Given the description of an element on the screen output the (x, y) to click on. 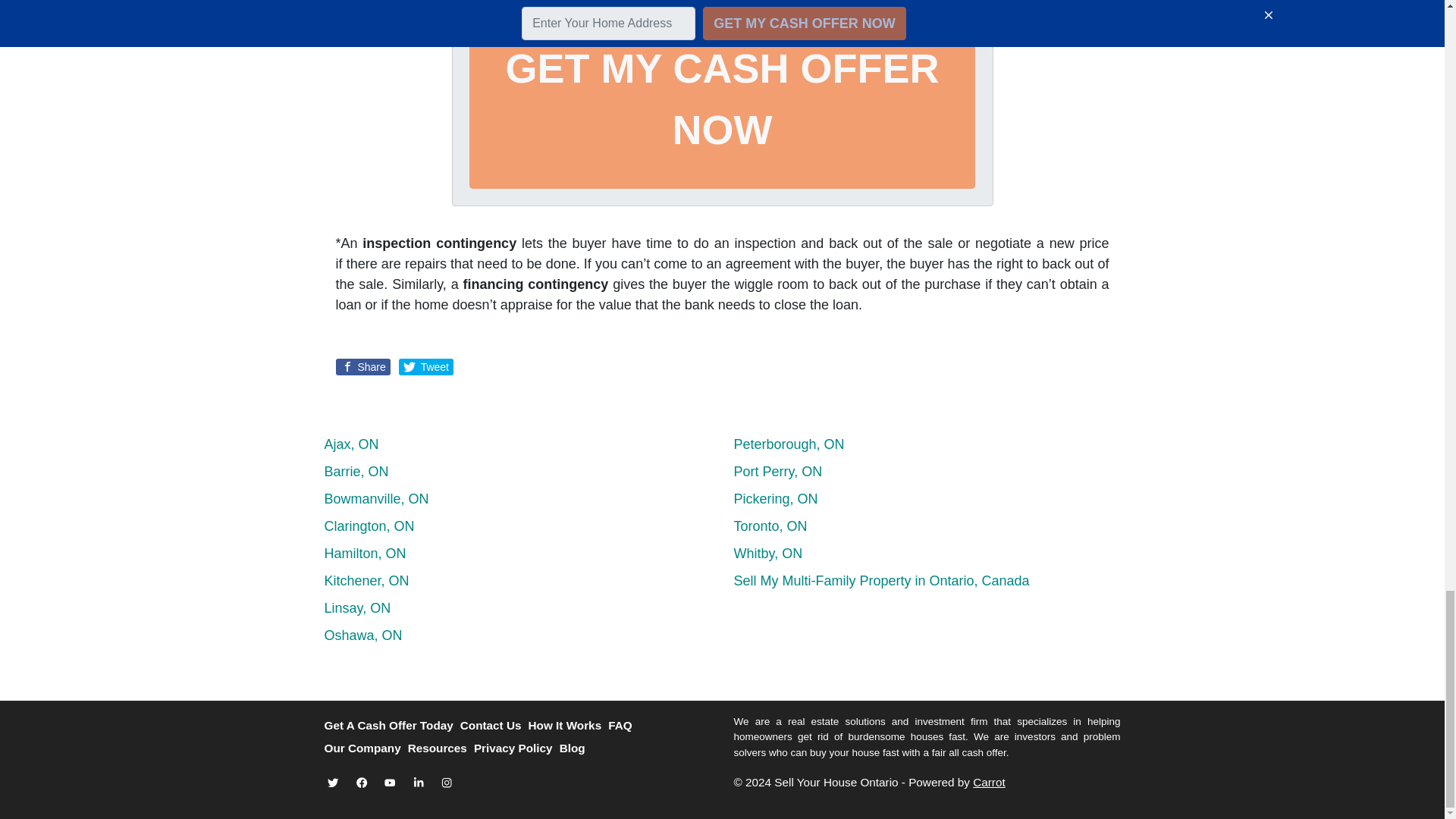
Ajax, ON (351, 444)
Hamilton, ON (365, 553)
Tweet (425, 366)
Barrie, ON (356, 471)
Port Perry, ON (777, 471)
Pickering, ON (775, 498)
Clarington, ON (369, 525)
Share on Facebook (362, 366)
Share (362, 366)
Oshawa, ON (363, 635)
